Given the description of an element on the screen output the (x, y) to click on. 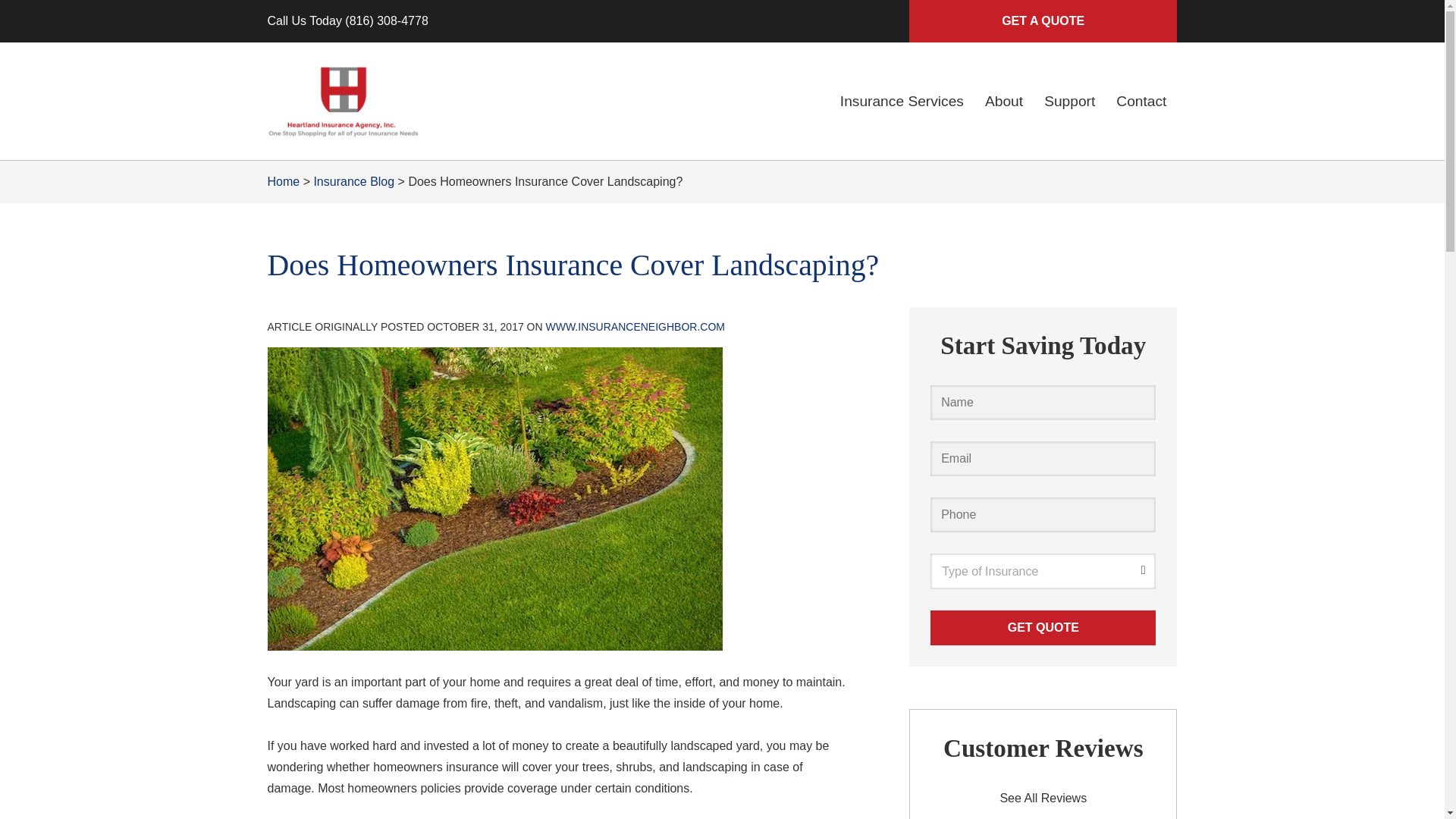
Insurance Services (901, 101)
Get Quote (1043, 627)
GET A QUOTE (1042, 21)
